Given the description of an element on the screen output the (x, y) to click on. 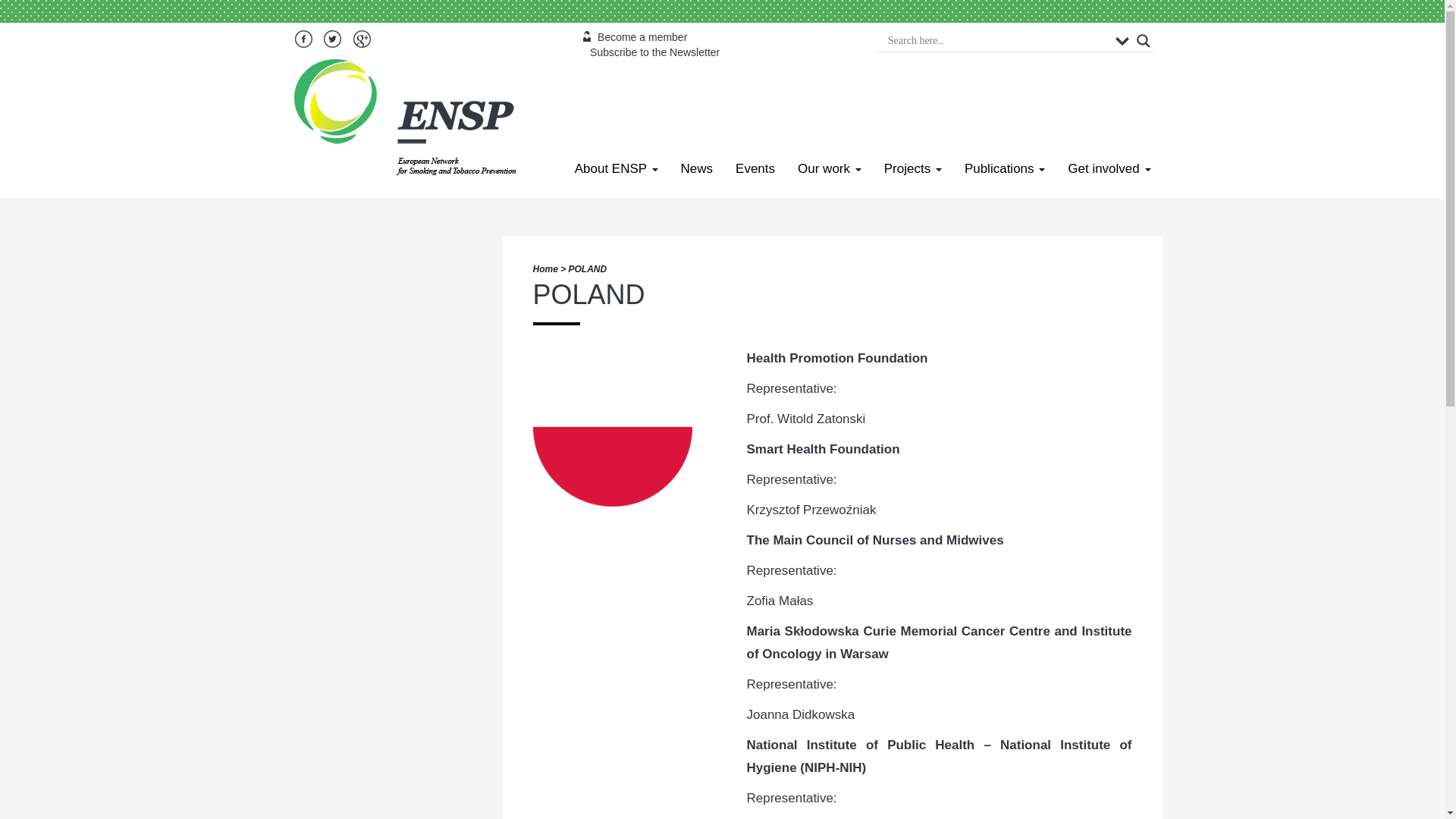
Events (754, 168)
About ENSP (616, 168)
Projects (912, 168)
web design cluj (571, 66)
gazduire web (566, 66)
News (697, 168)
Become a member (635, 37)
Our work (829, 168)
